Given the description of an element on the screen output the (x, y) to click on. 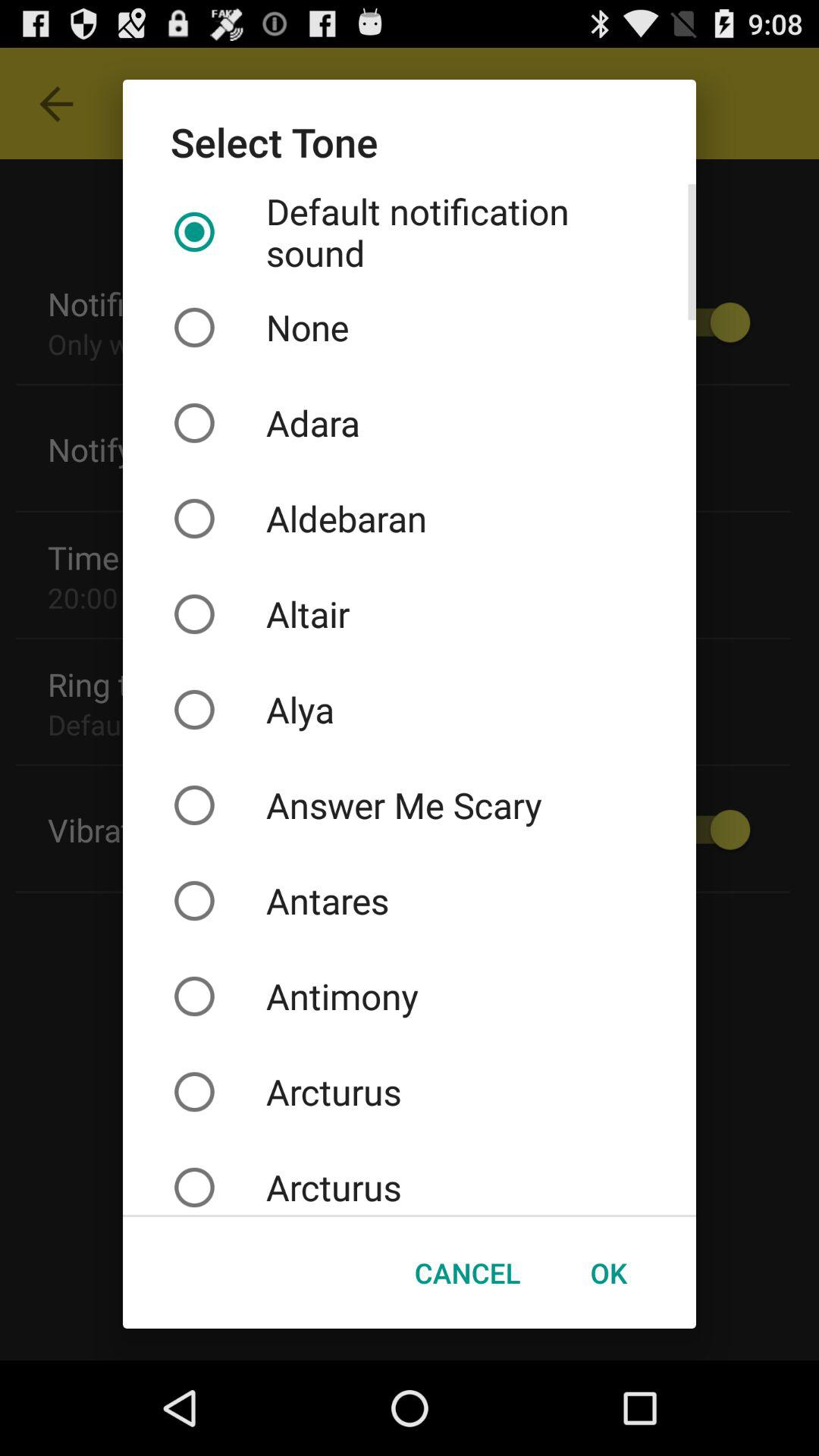
turn off the item next to the cancel (608, 1272)
